Given the description of an element on the screen output the (x, y) to click on. 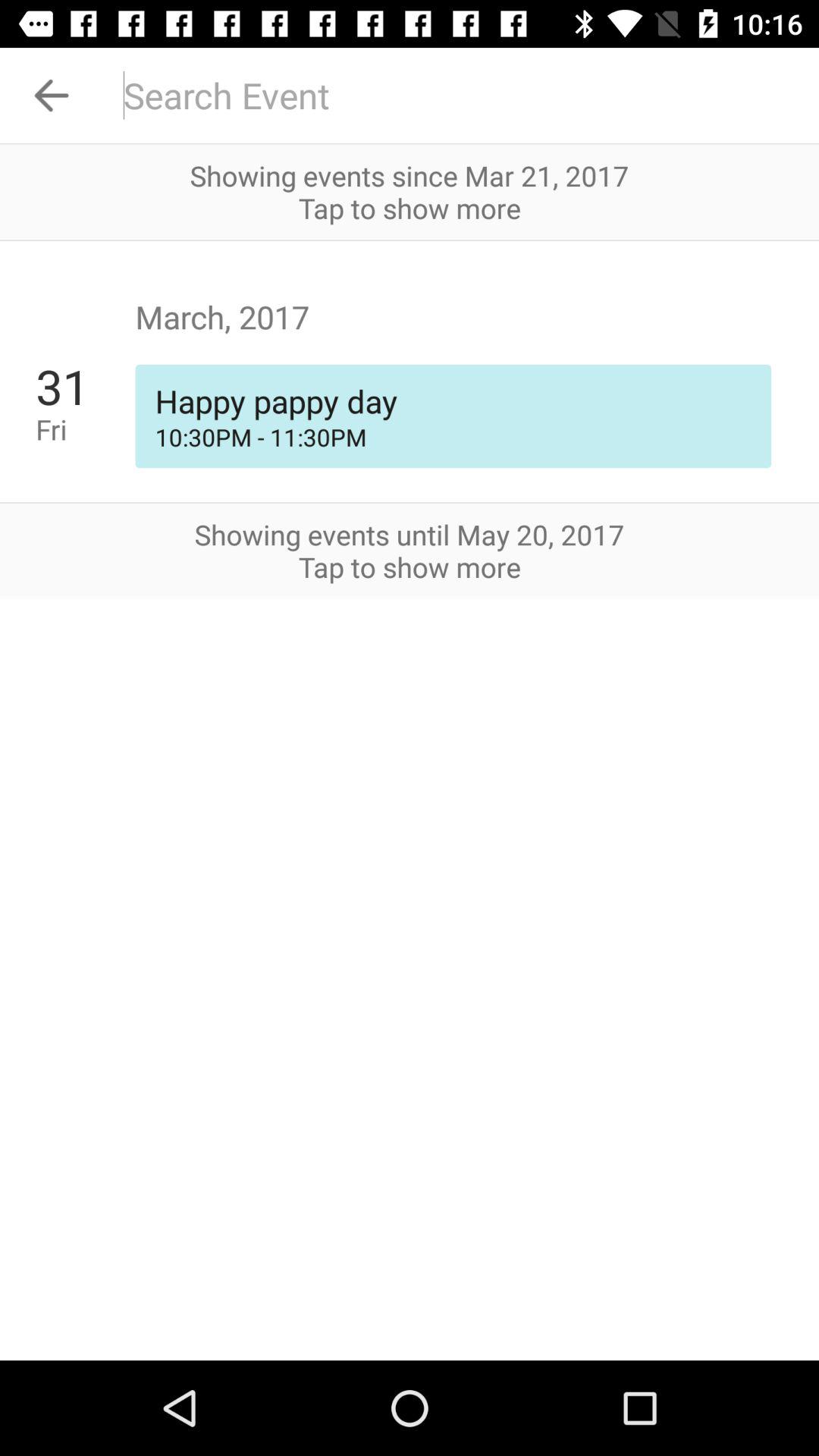
choose icon next to 31 icon (453, 436)
